Given the description of an element on the screen output the (x, y) to click on. 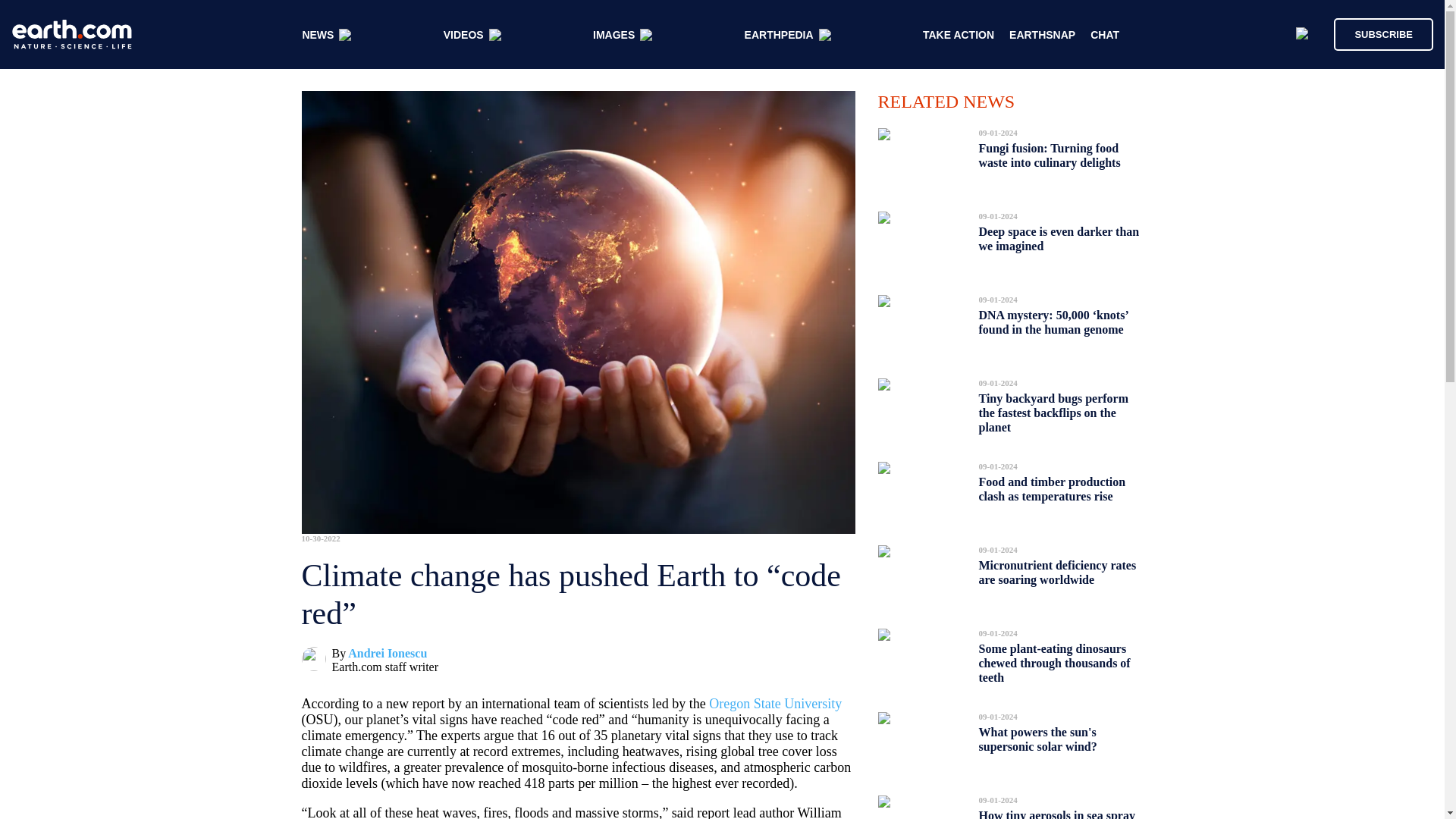
TAKE ACTION (958, 34)
What powers the sun's supersonic solar wind? (1037, 739)
Deep space is even darker than we imagined (1058, 238)
SUBSCRIBE (1382, 34)
SUBSCRIBE (1375, 33)
Andrei Ionescu (386, 653)
Micronutrient deficiency rates are soaring worldwide (1056, 572)
Fungi fusion: Turning food waste into culinary delights (1048, 155)
EARTHSNAP (1042, 34)
